Given the description of an element on the screen output the (x, y) to click on. 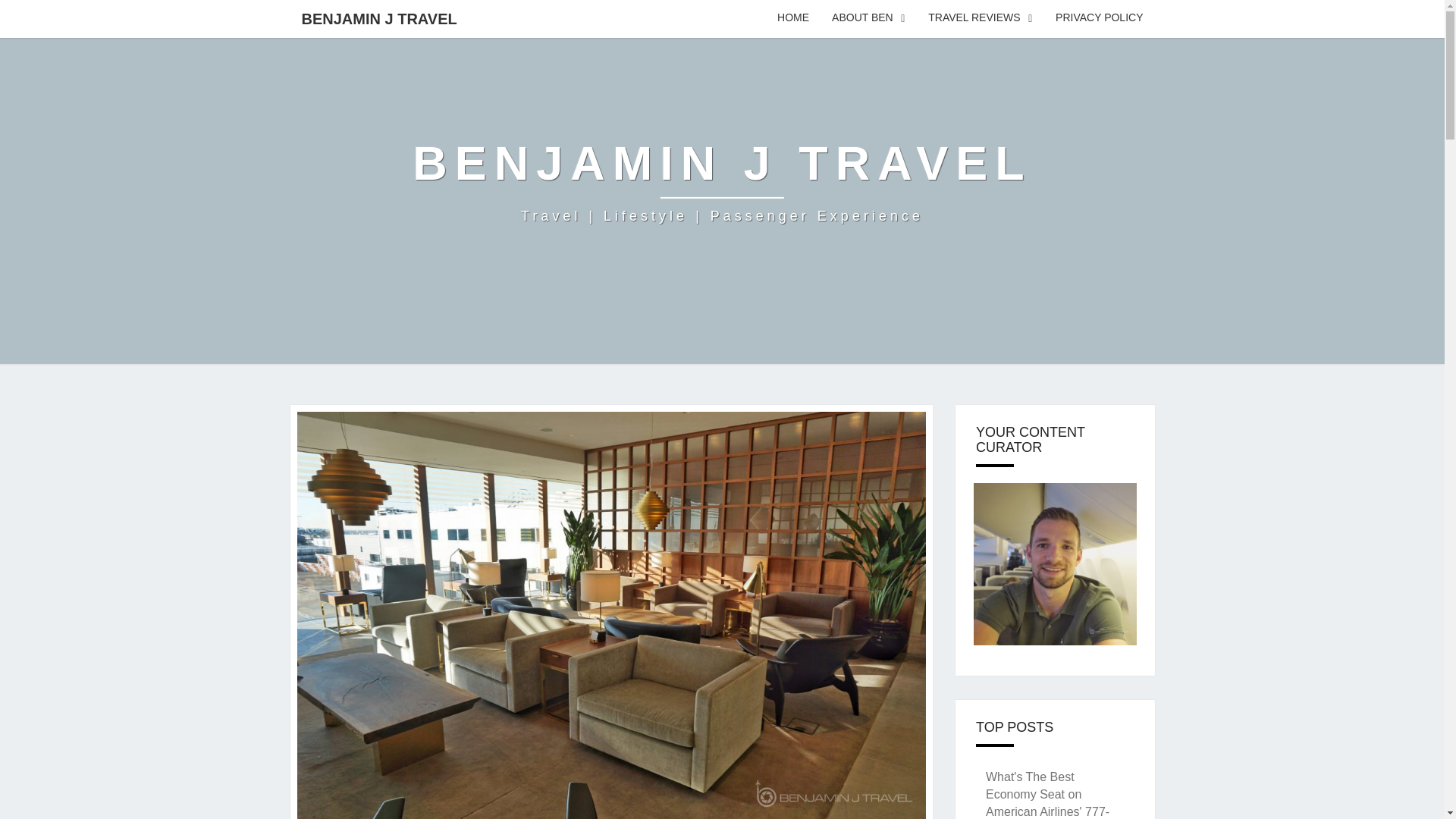
HOME (793, 18)
ABOUT BEN (869, 18)
Benjamin J Travel (721, 181)
TRAVEL REVIEWS (980, 18)
PRIVACY POLICY (1098, 18)
BENJAMIN J TRAVEL (378, 18)
